Given the description of an element on the screen output the (x, y) to click on. 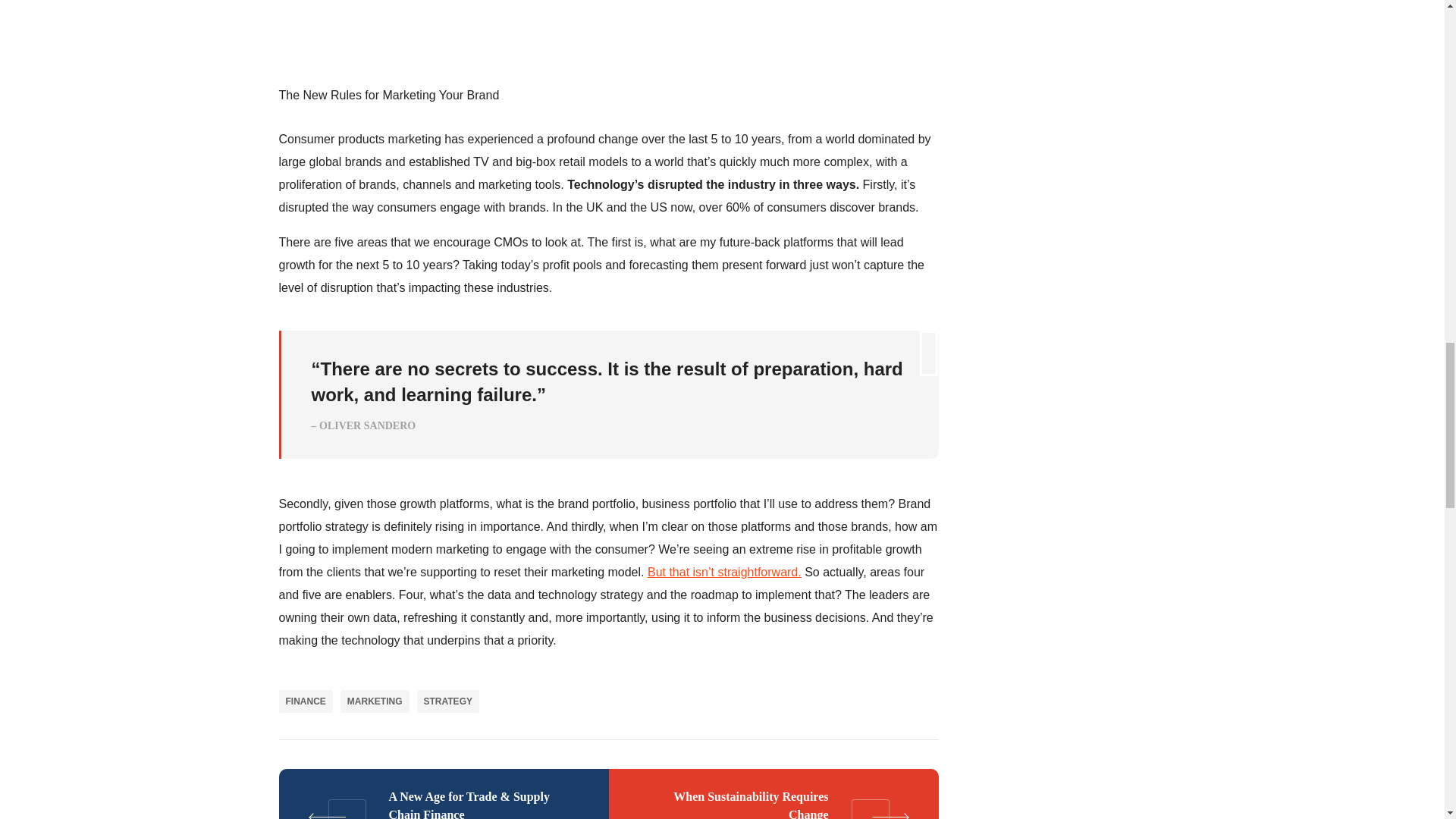
MARKETING (374, 701)
STRATEGY (447, 701)
When Sustainability Requires Change (772, 794)
FINANCE (306, 701)
